Given the description of an element on the screen output the (x, y) to click on. 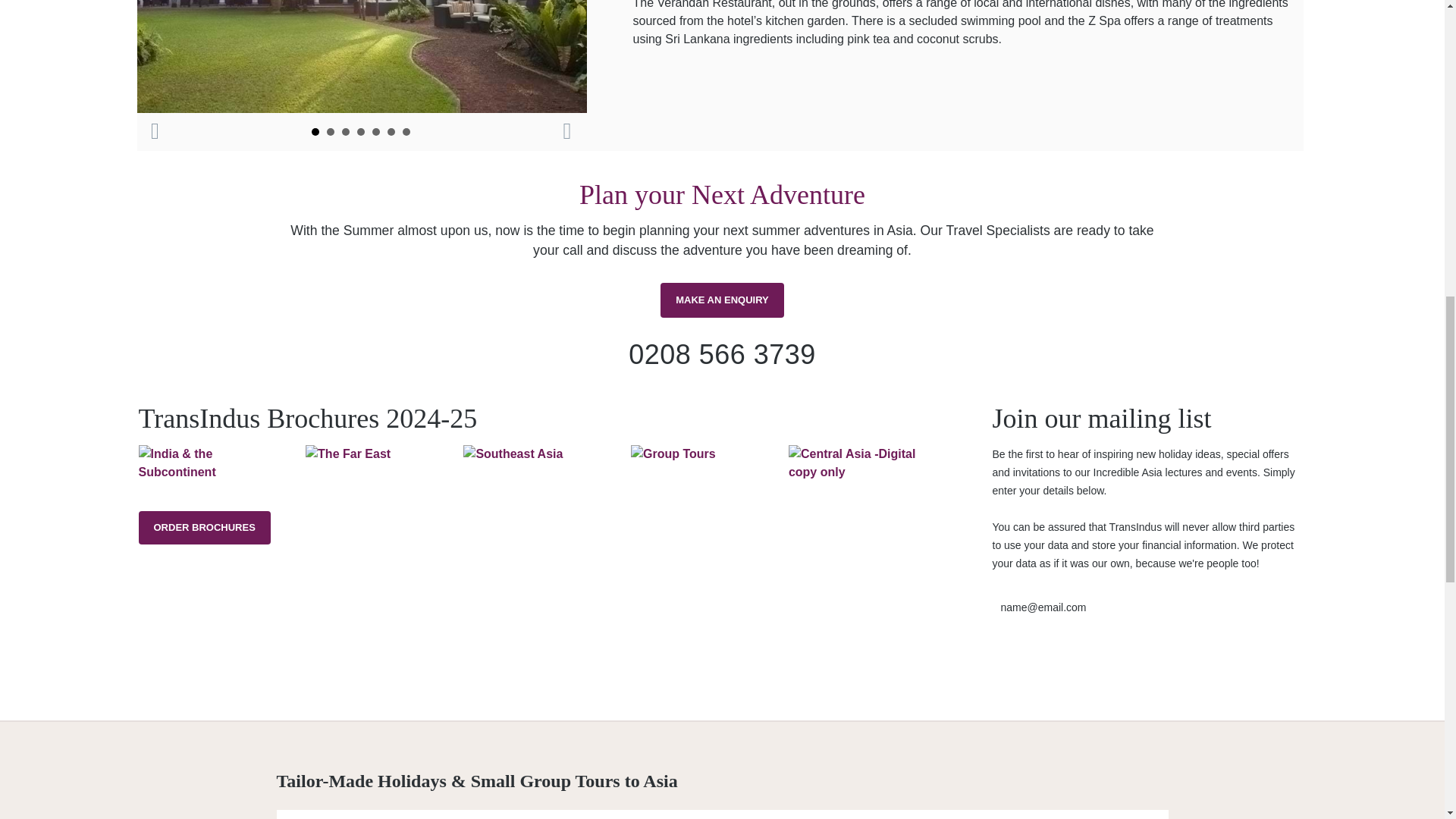
Southeast Asia (539, 454)
Group Tours (701, 454)
Central Asia -Digital copy only (864, 463)
Subscribe (1035, 659)
The Far East (376, 454)
